Given the description of an element on the screen output the (x, y) to click on. 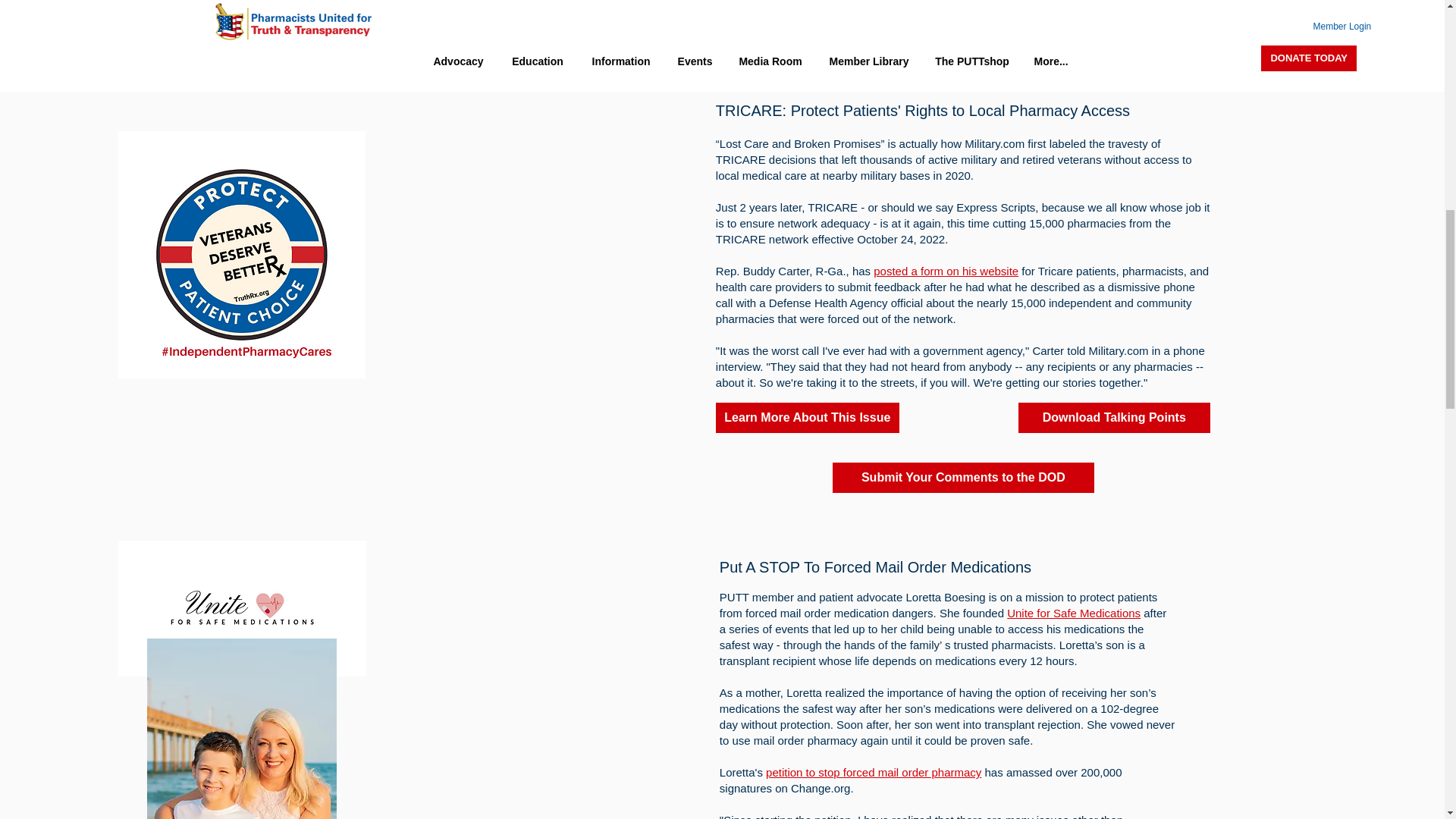
Download Talking Points (1113, 417)
Unite for Safe Medications (1073, 612)
Submit Your Comments to the DOD (963, 477)
posted a form on his website (945, 270)
petition to stop forced mail order pharmacy (873, 771)
Learn More About This Issue (807, 417)
